Given the description of an element on the screen output the (x, y) to click on. 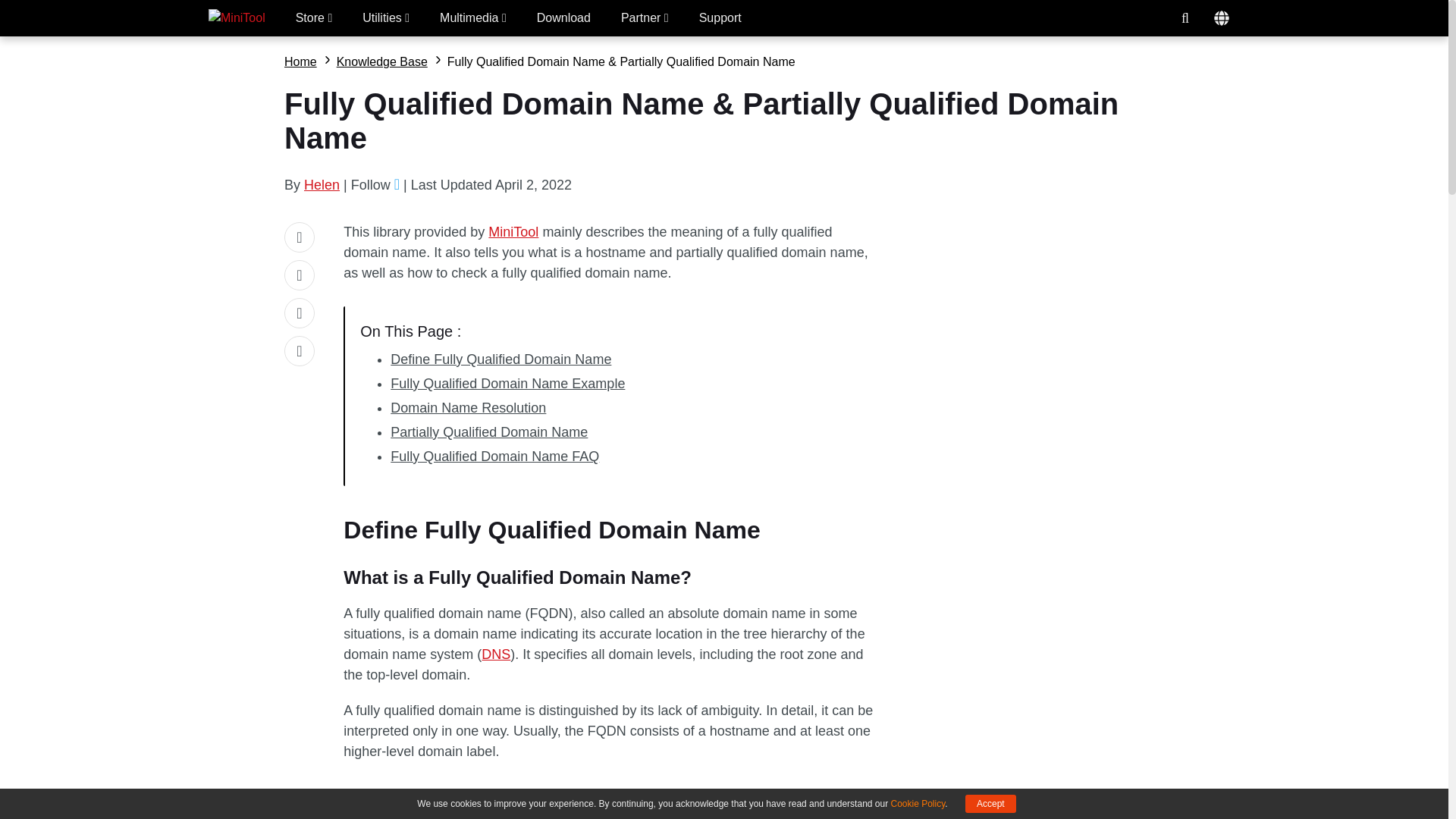
Store (314, 18)
MiniTool Home (236, 17)
Utilities (385, 18)
